Given the description of an element on the screen output the (x, y) to click on. 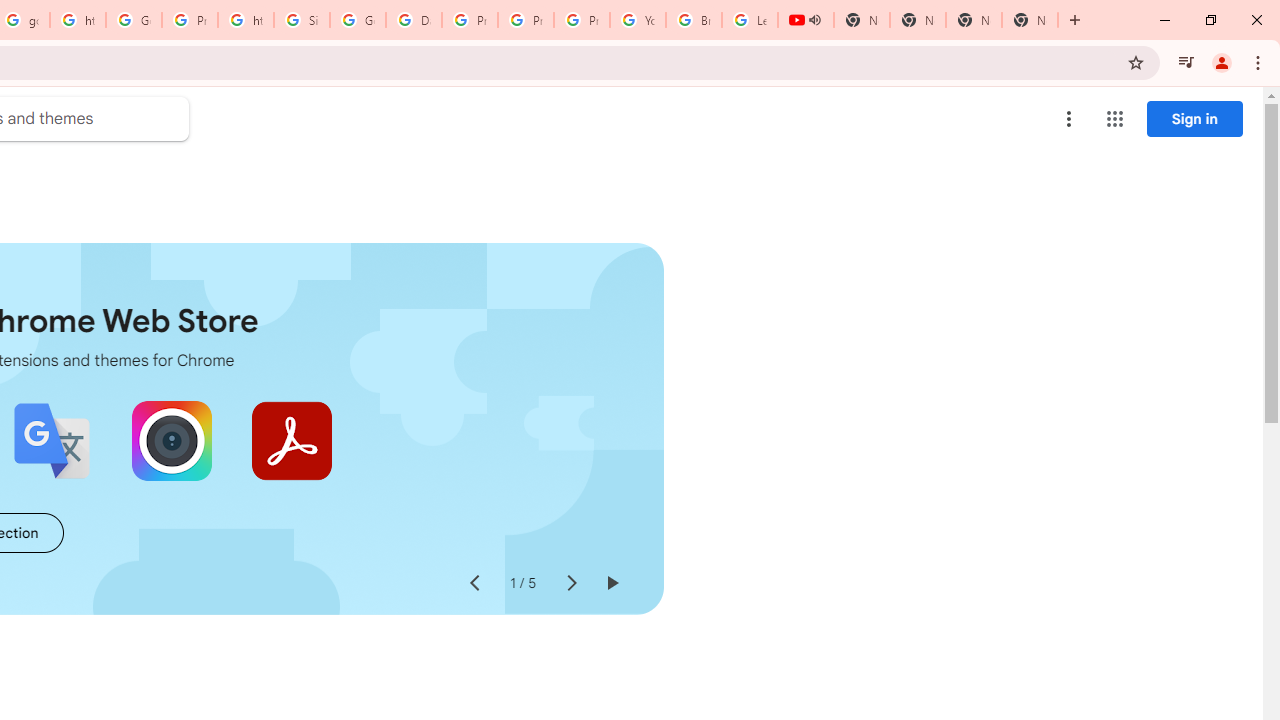
Resume auto-play (611, 583)
Privacy Help Center - Policies Help (469, 20)
New Tab (1030, 20)
